Given the description of an element on the screen output the (x, y) to click on. 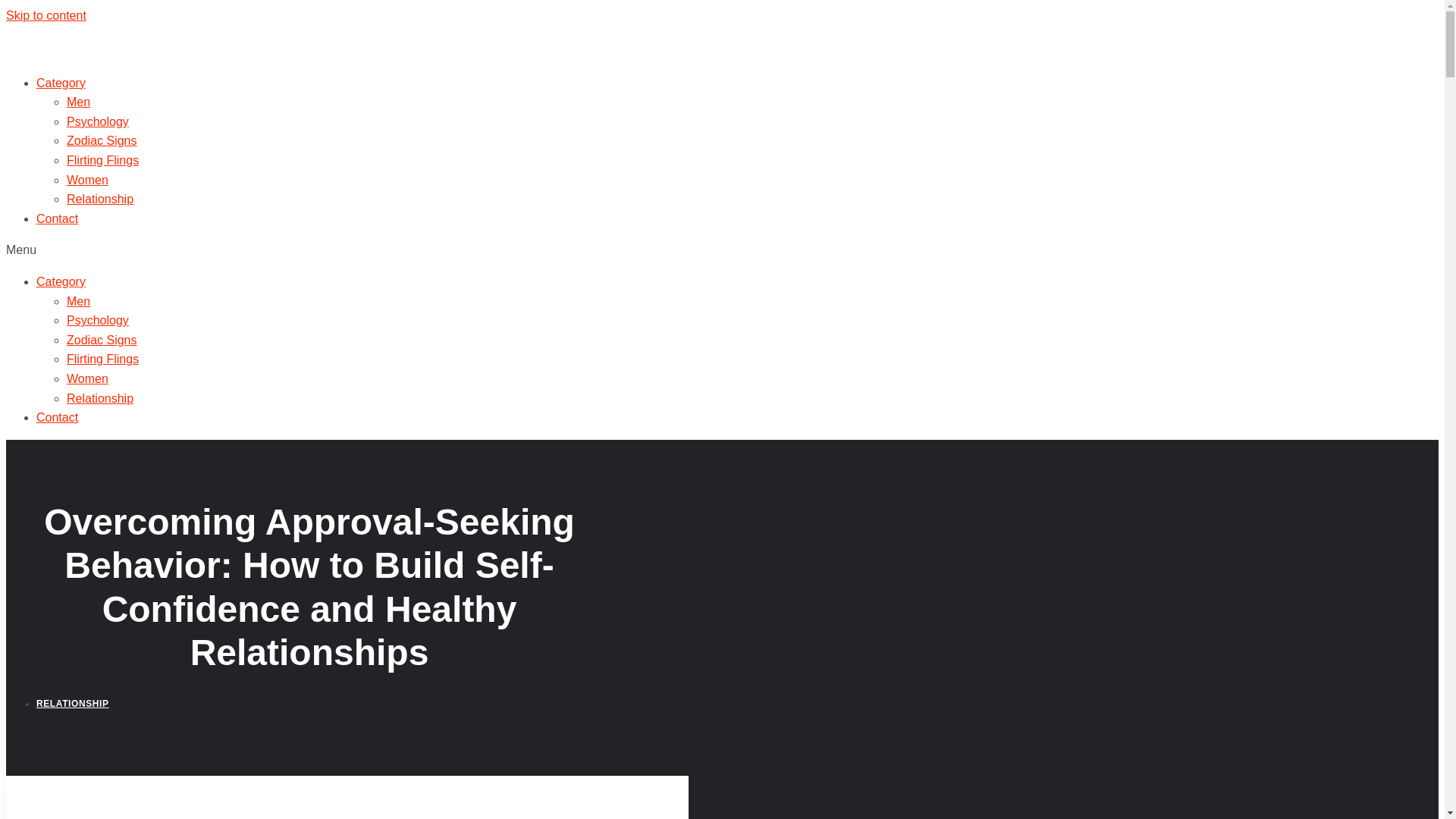
Skip to content (45, 15)
RELATIONSHIP (72, 703)
Zodiac Signs (101, 140)
Men (78, 300)
Category (60, 281)
Psychology (97, 319)
Contact (57, 417)
Relationship (99, 397)
Relationship (99, 198)
Contact (57, 218)
Psychology (97, 121)
Zodiac Signs (101, 339)
Women (86, 179)
Flirting Flings (102, 358)
Category (60, 82)
